Given the description of an element on the screen output the (x, y) to click on. 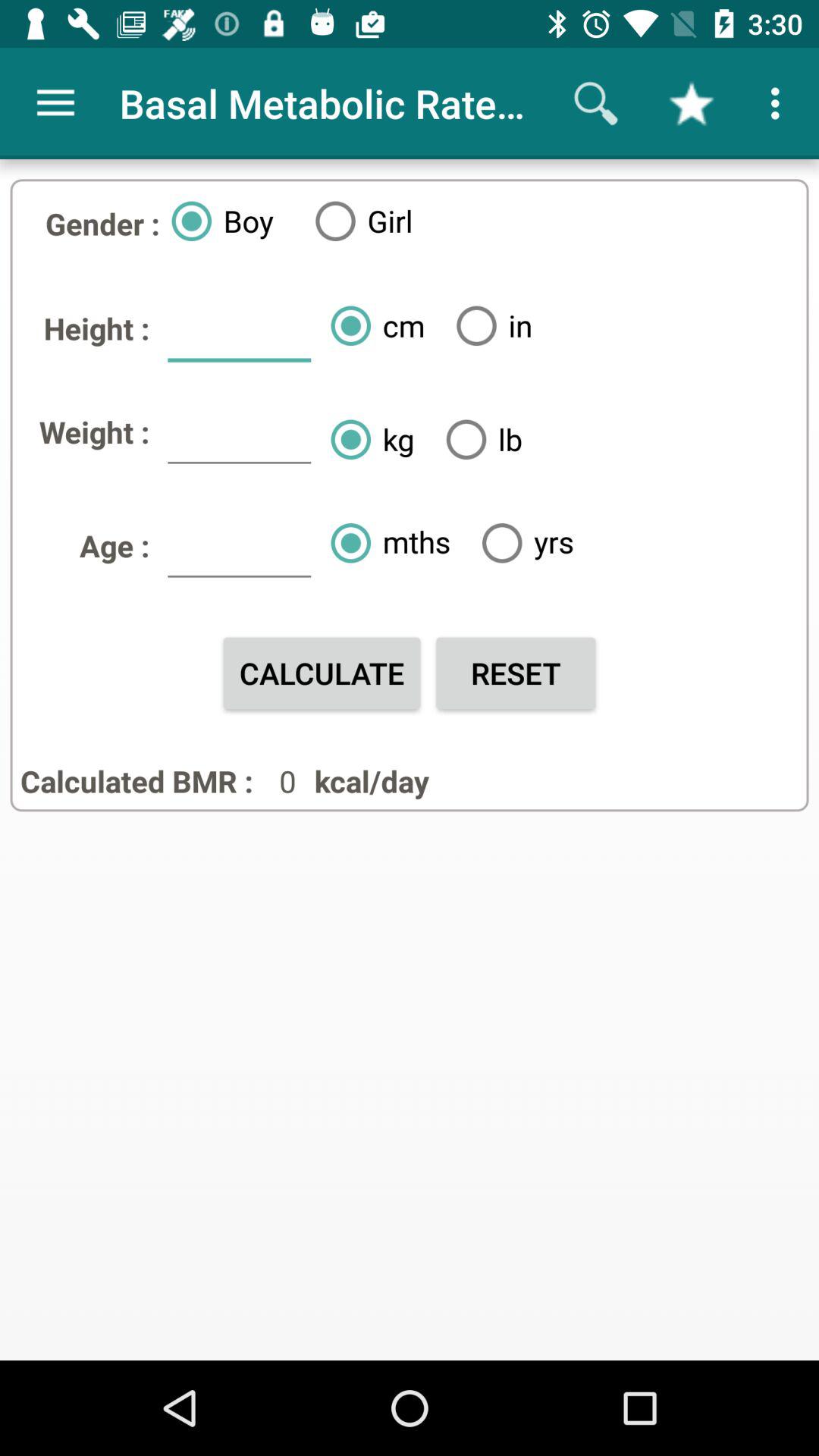
launch icon next to weight : item (239, 438)
